Given the description of an element on the screen output the (x, y) to click on. 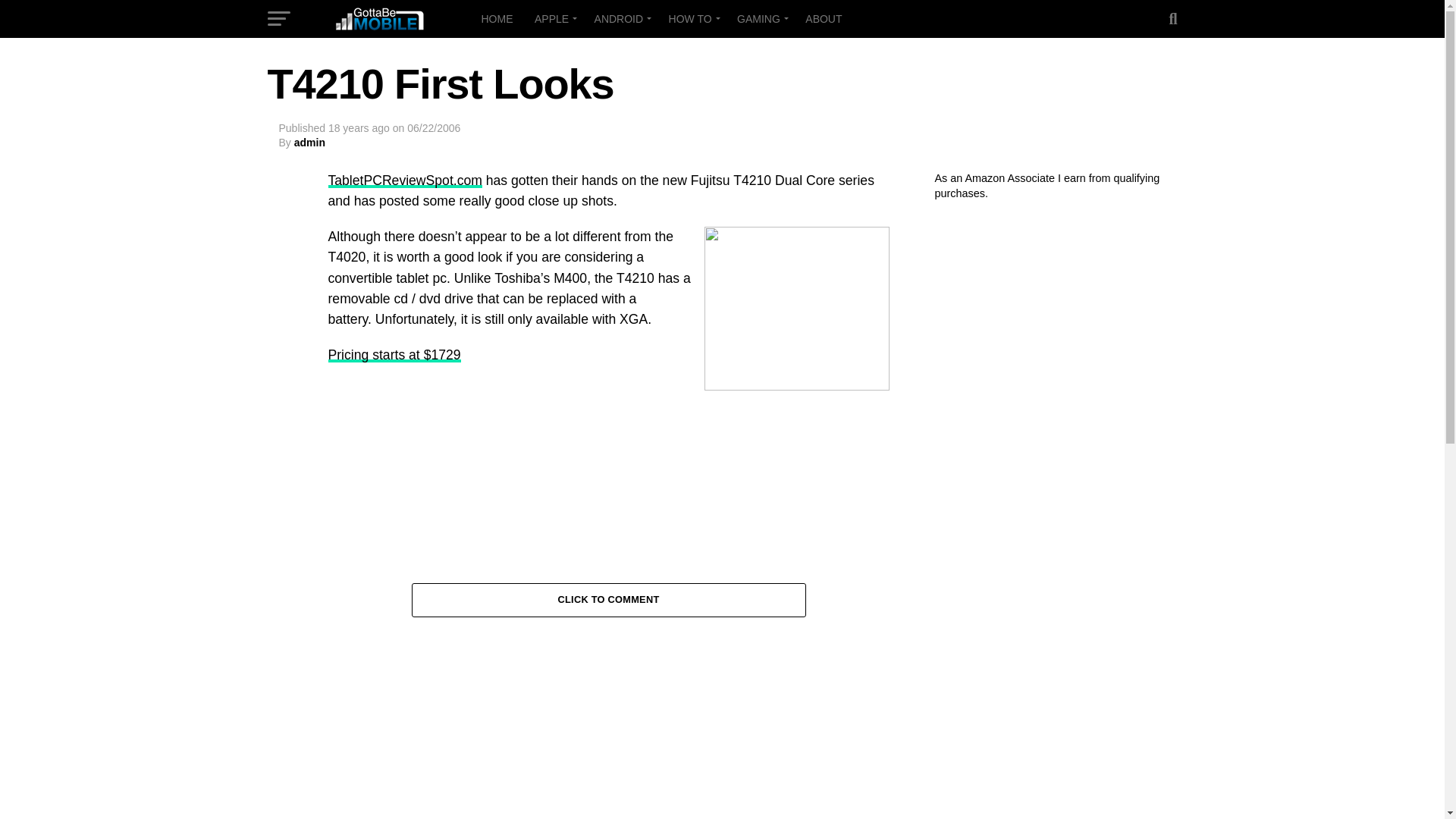
ANDROID (620, 18)
APPLE (552, 18)
HOW TO (692, 18)
HOME (496, 18)
Posts by admin (309, 142)
GAMING (760, 18)
